Given the description of an element on the screen output the (x, y) to click on. 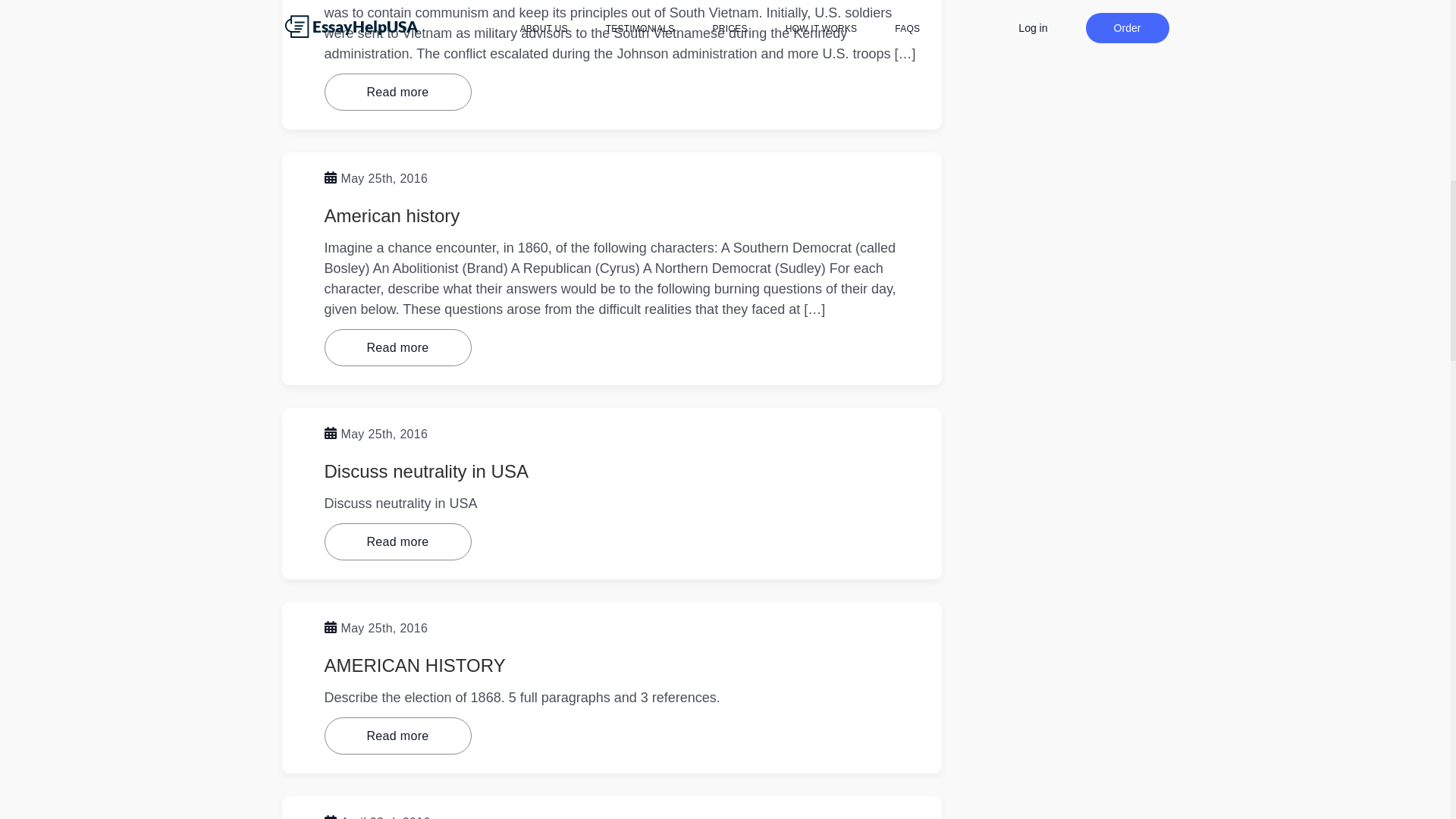
Read more (397, 347)
American history (392, 215)
Read more (397, 735)
Discuss neutrality in USA (426, 471)
Read more (397, 541)
AMERICAN HISTORY (414, 665)
Read more (397, 91)
